Given the description of an element on the screen output the (x, y) to click on. 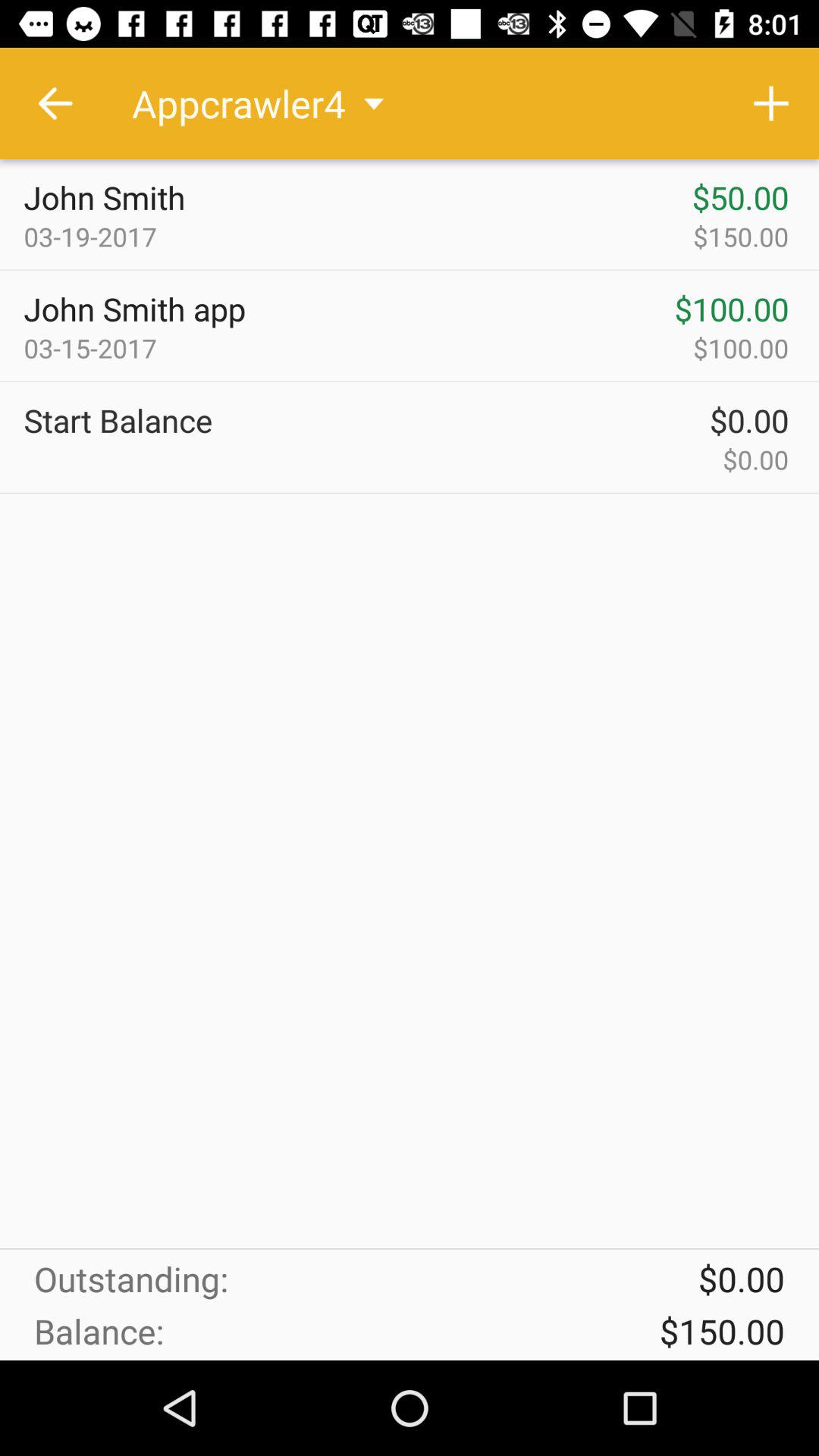
select drop down button (374, 102)
